Given the description of an element on the screen output the (x, y) to click on. 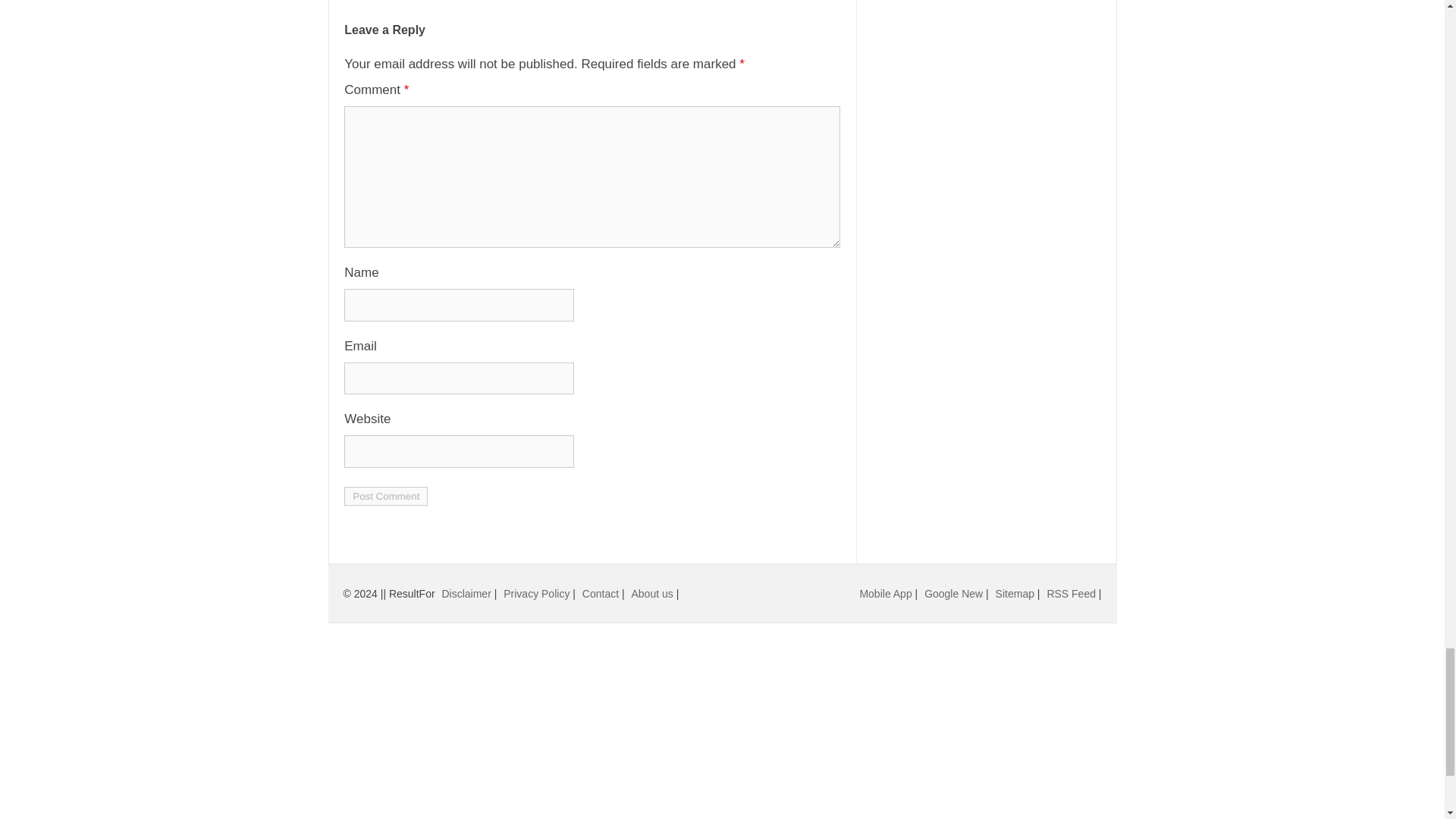
Post Comment (385, 496)
